Given the description of an element on the screen output the (x, y) to click on. 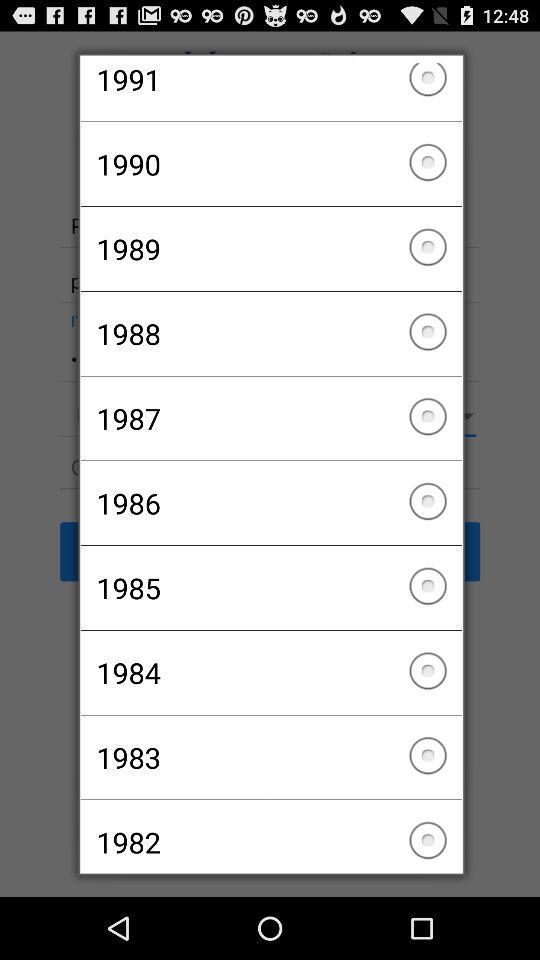
press checkbox below 1990 icon (270, 248)
